Given the description of an element on the screen output the (x, y) to click on. 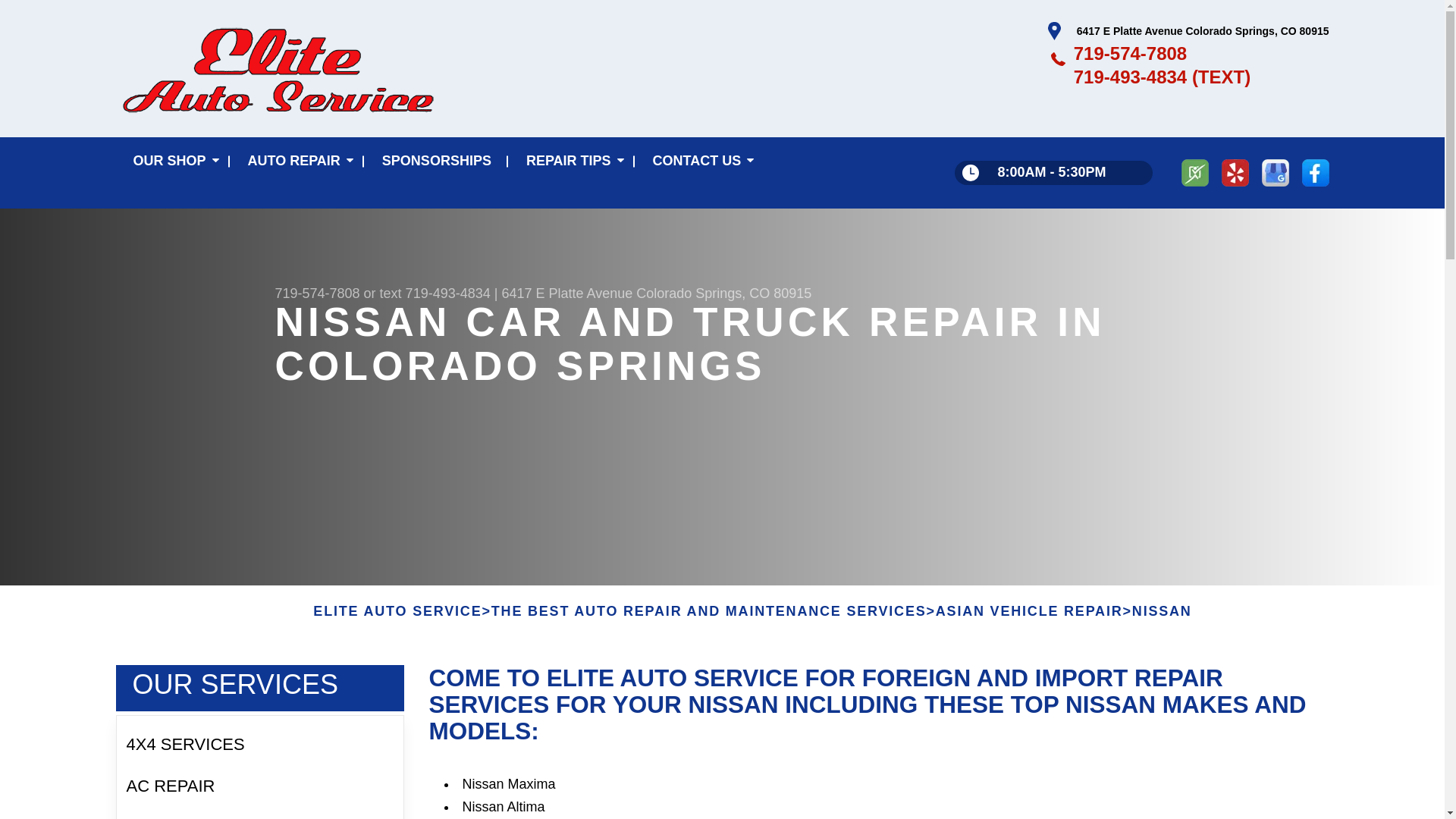
OUR SHOP (172, 161)
Colorado Springs, CO 80915 (723, 293)
8:00AM - 5:30PM (1053, 172)
REPAIR TIPS (571, 161)
6417 E Platte Avenue (565, 293)
CONTACT US (699, 161)
AUTO REPAIR (297, 161)
SPONSORSHIPS (436, 161)
